Given the description of an element on the screen output the (x, y) to click on. 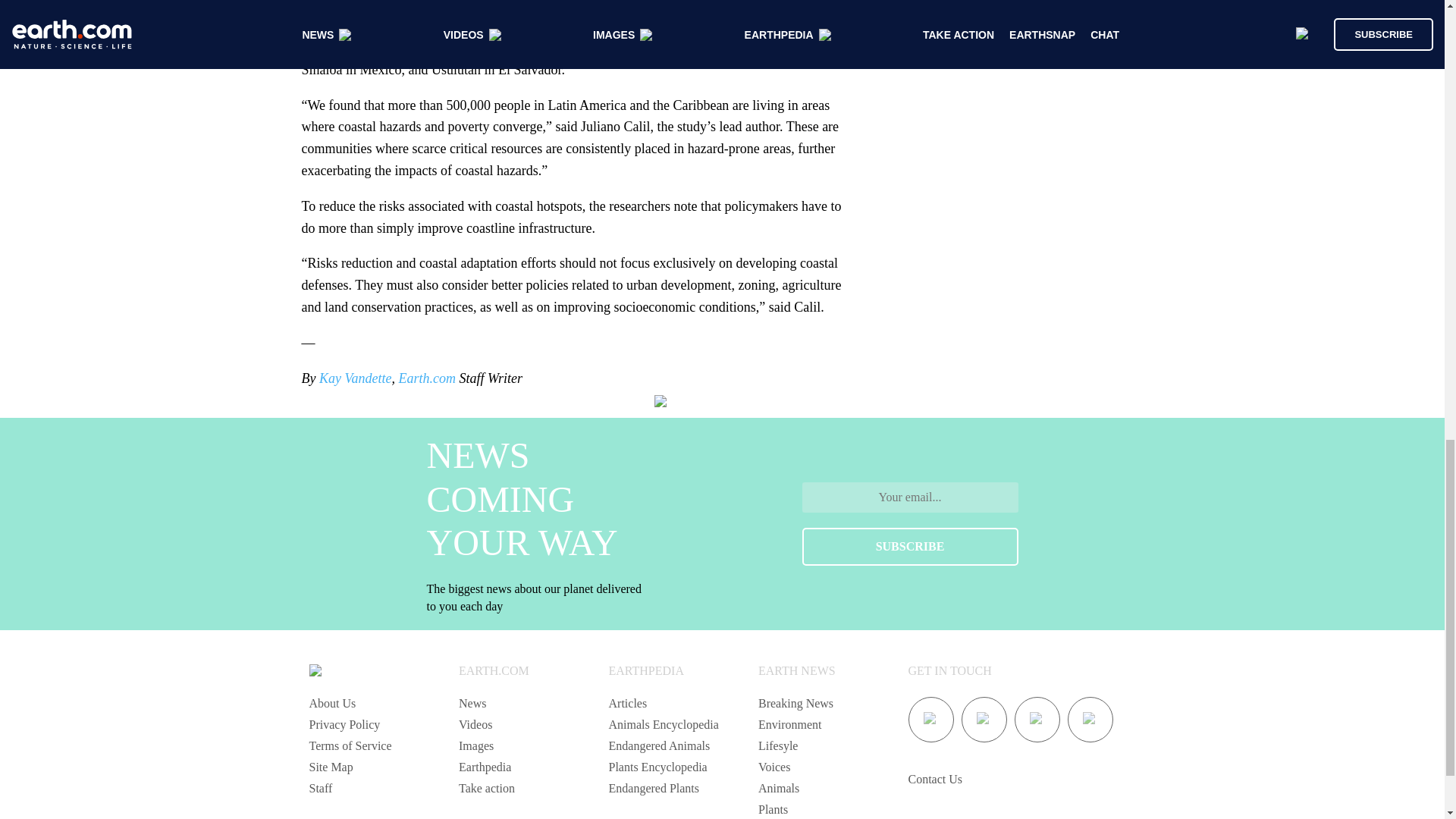
Earth.com (427, 378)
Kay Vandette (353, 378)
SUBSCRIBE (909, 546)
